Given the description of an element on the screen output the (x, y) to click on. 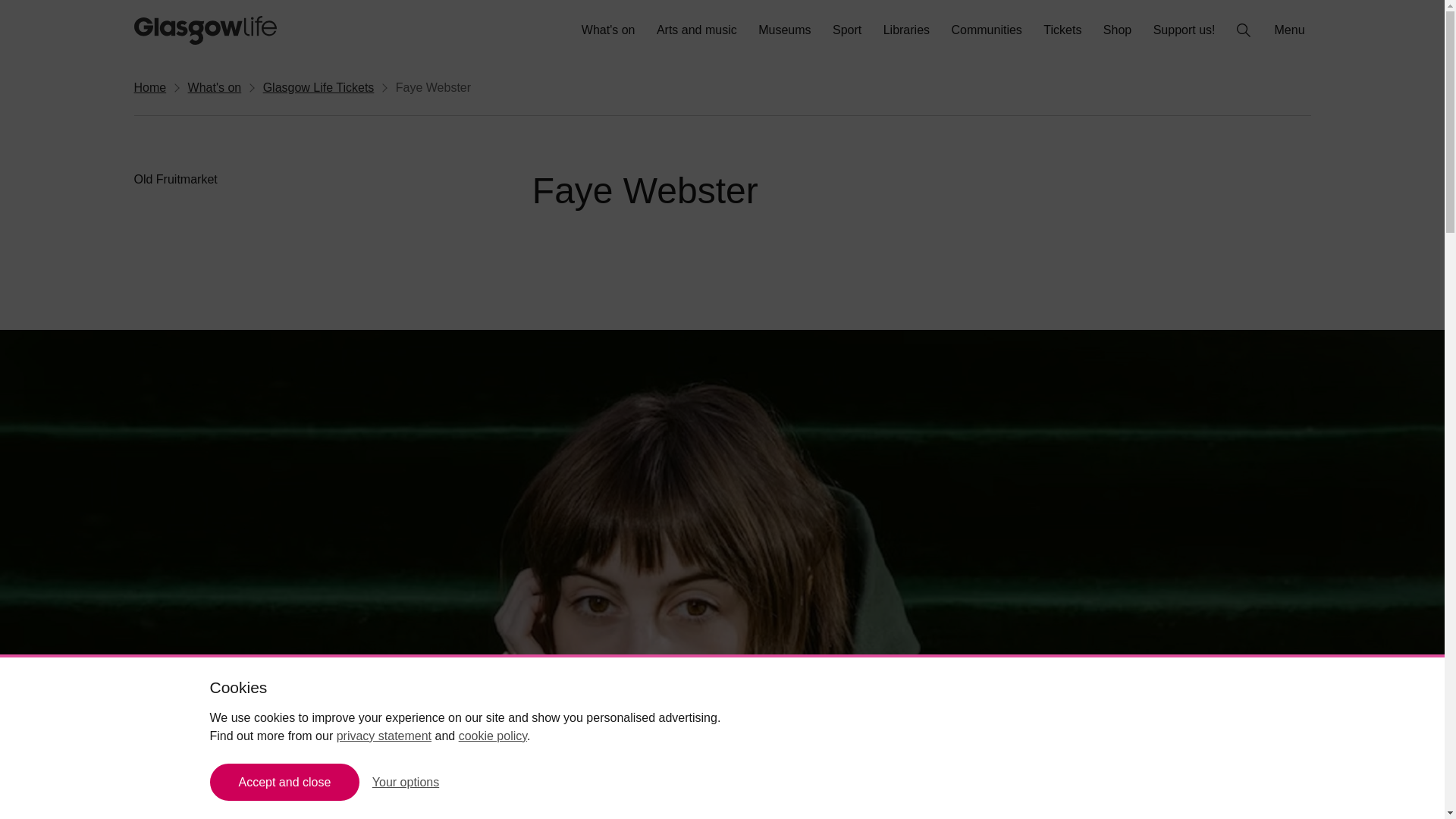
What's on (607, 30)
Tickets (1062, 30)
Accept and close (284, 781)
Libraries (906, 30)
Menu (1290, 30)
cookie policy (492, 735)
Communities (986, 30)
Your options (405, 781)
Museums (784, 30)
Support us! (1184, 30)
